Given the description of an element on the screen output the (x, y) to click on. 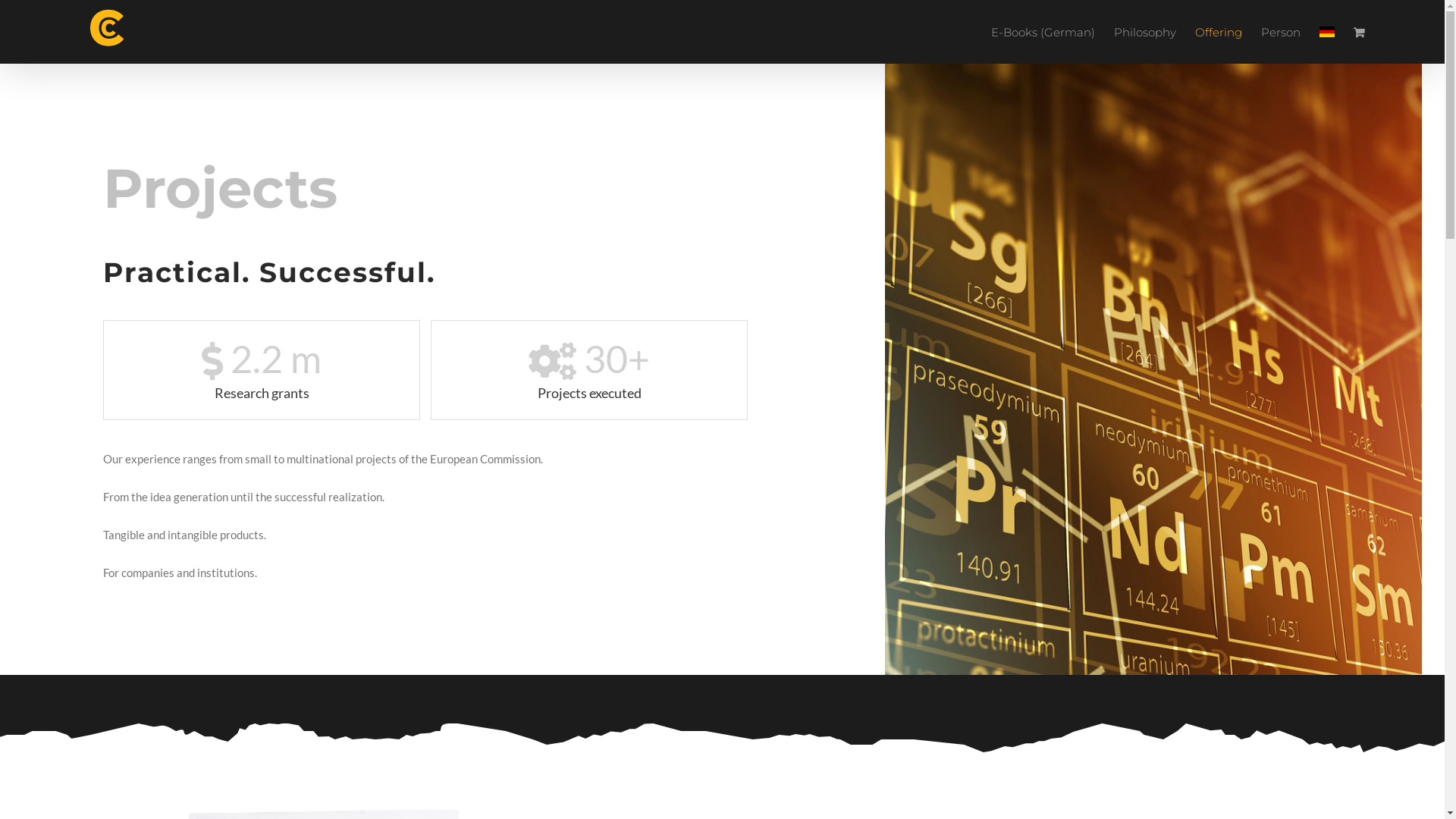
Person Element type: text (1280, 31)
Offering Element type: text (1218, 31)
Philosophy Element type: text (1144, 31)
E-Books (German) Element type: text (1043, 31)
